Given the description of an element on the screen output the (x, y) to click on. 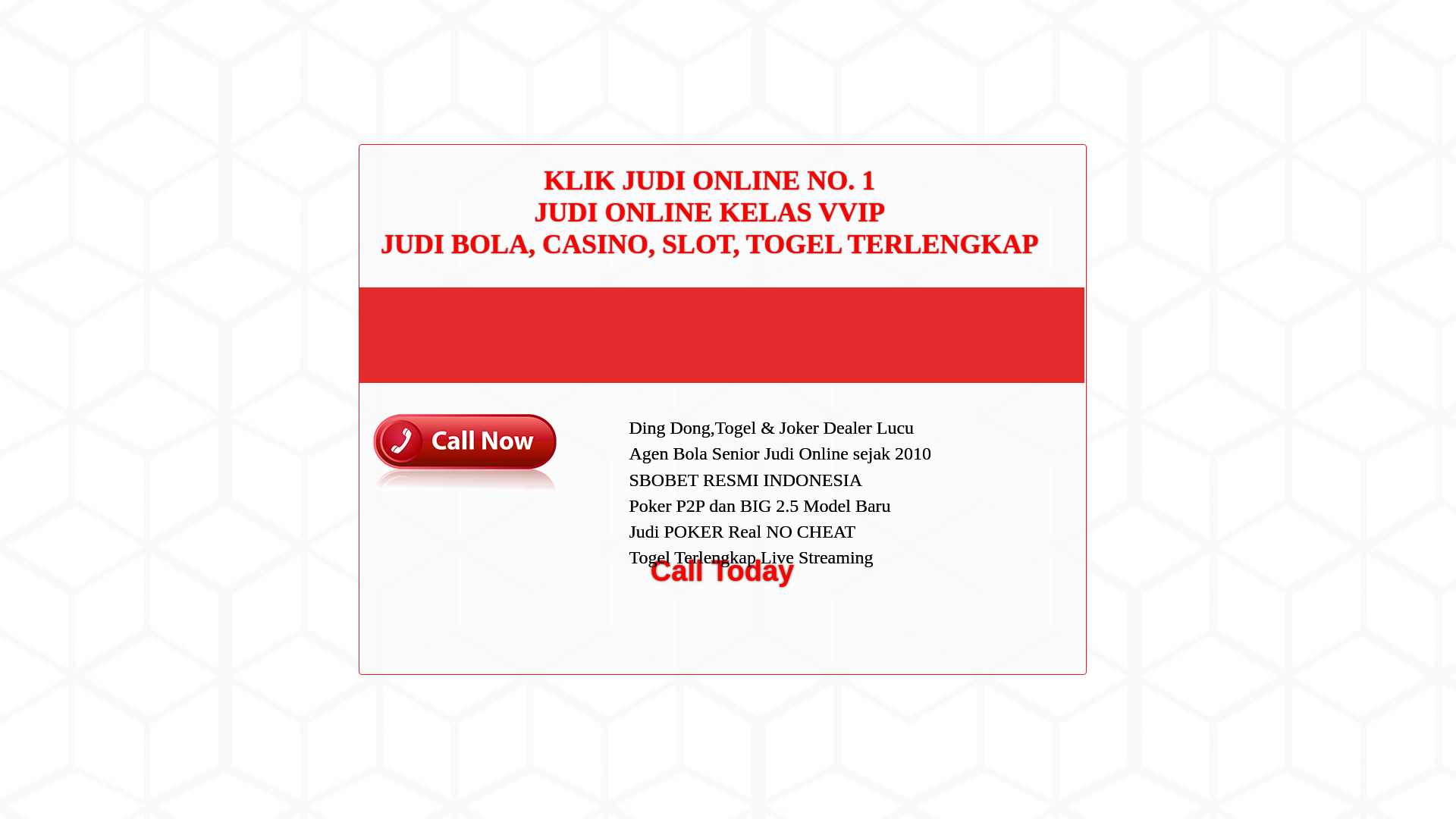
KANONSPORTS.COM (403, 28)
DMCA Policy (996, 282)
Privacy Policy (999, 306)
Terms of Use (996, 330)
Search (1050, 85)
Skip to content (34, 9)
Disclaimer (990, 354)
Contact Us (991, 258)
Search for: (1049, 47)
Blog (976, 510)
ADMINISTRATOR (417, 81)
Latest Article (996, 172)
Search (1050, 85)
Log in (980, 588)
Search (1050, 85)
